Given the description of an element on the screen output the (x, y) to click on. 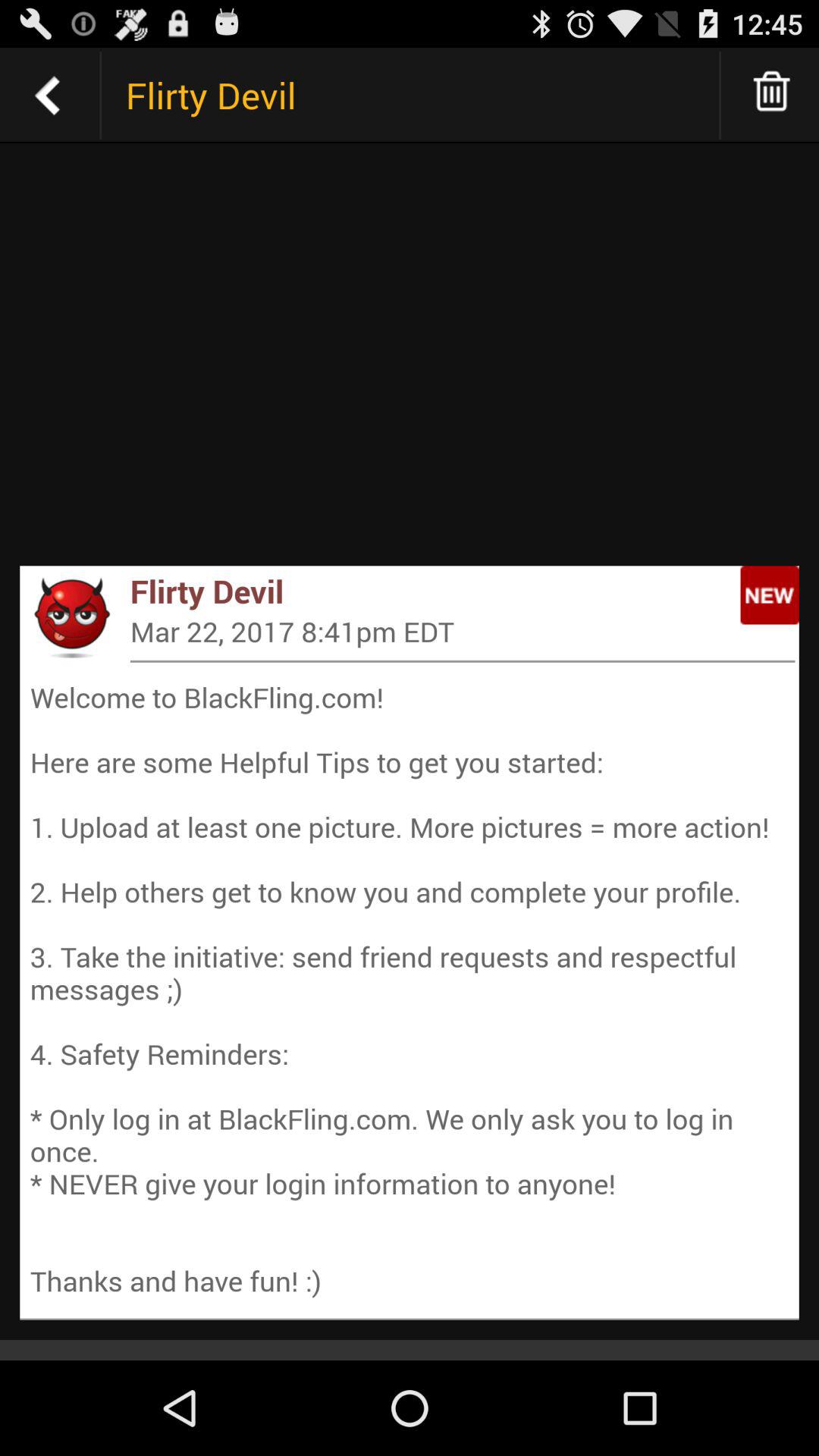
delete box (772, 95)
